Given the description of an element on the screen output the (x, y) to click on. 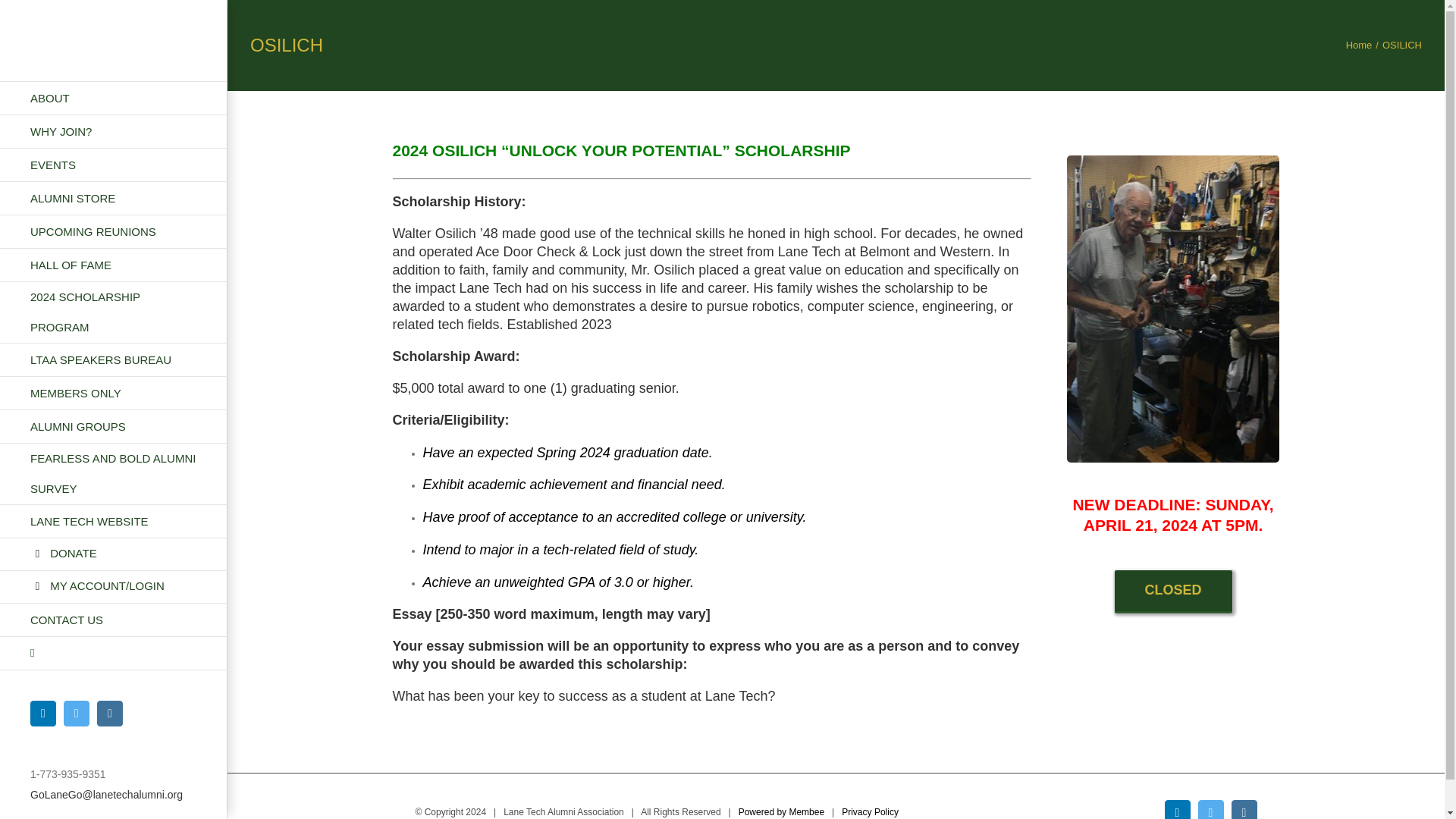
Twitter (76, 713)
LinkedIn (43, 713)
HALL OF FAME (113, 264)
ALUMNI GROUPS (113, 426)
FEARLESS AND BOLD ALUMNI SURVEY (113, 474)
LTAA SPEAKERS BUREAU (113, 359)
LinkedIn (43, 713)
ABOUT (113, 98)
LinkedIn (1177, 809)
CONTACT US (113, 620)
